Given the description of an element on the screen output the (x, y) to click on. 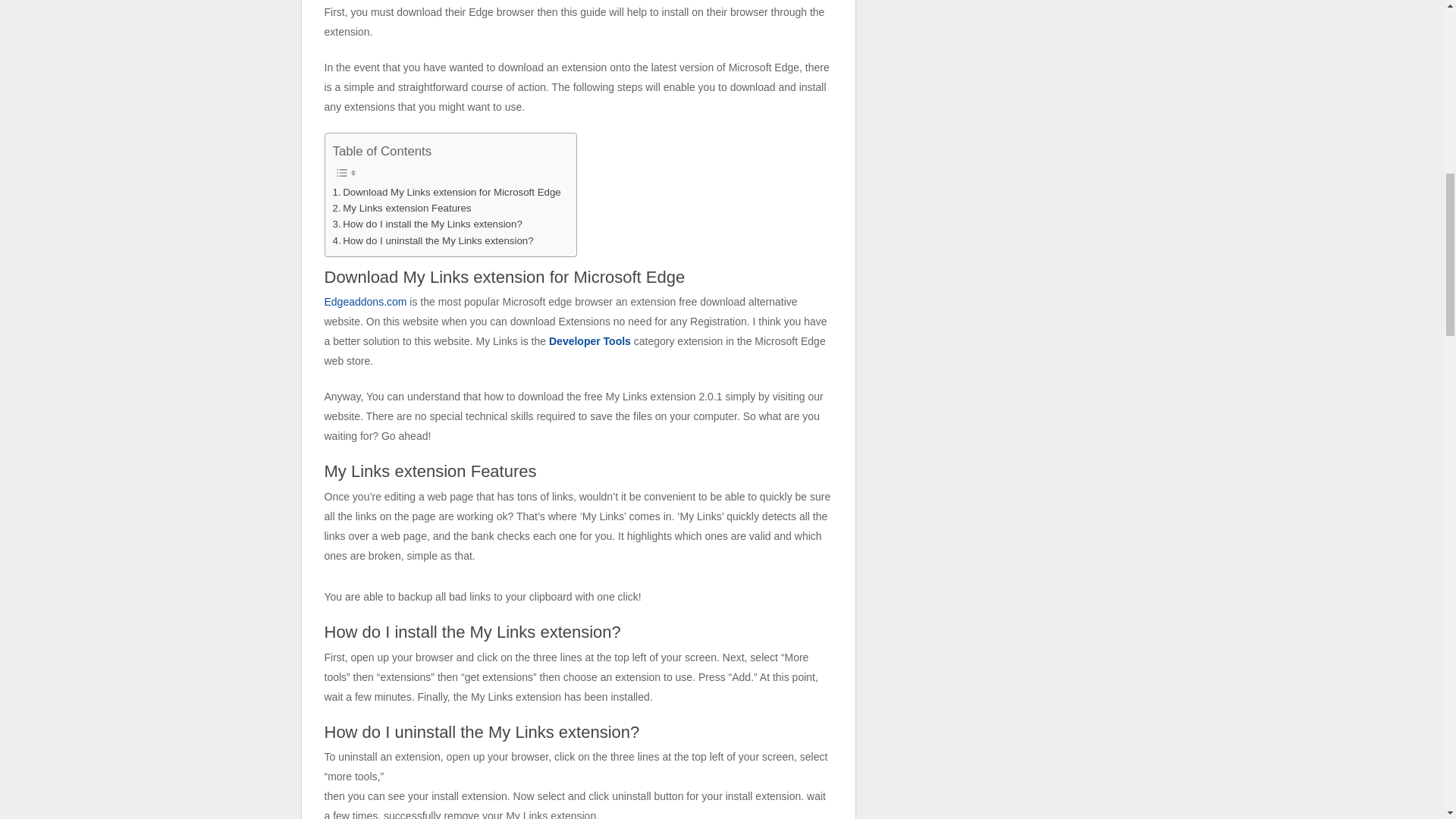
Developer Tools (589, 340)
Edgeaddons.com (365, 301)
Developer Tools (589, 340)
Download My Links extension for Microsoft Edge (445, 191)
My Links extension Features (400, 207)
How do I uninstall the My Links extension? (431, 240)
Download My Links extension for Microsoft Edge (445, 191)
How do I install the My Links extension? (426, 223)
How do I install the My Links extension? (426, 223)
My Links extension Features (400, 207)
